Given the description of an element on the screen output the (x, y) to click on. 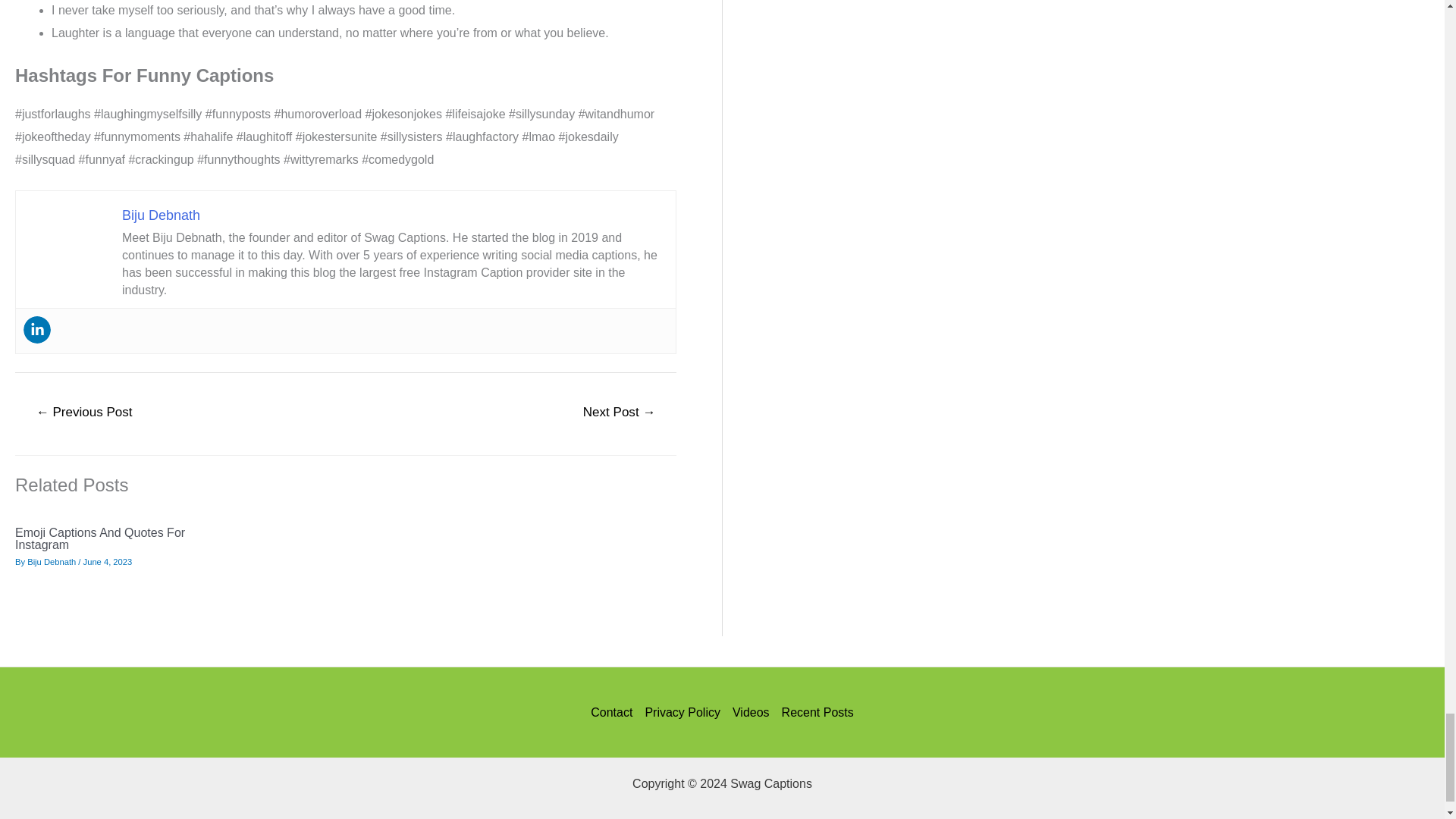
DMCA.com Protection Status (722, 813)
Linkedin (36, 329)
View all posts by Biju Debnath (51, 561)
